Given the description of an element on the screen output the (x, y) to click on. 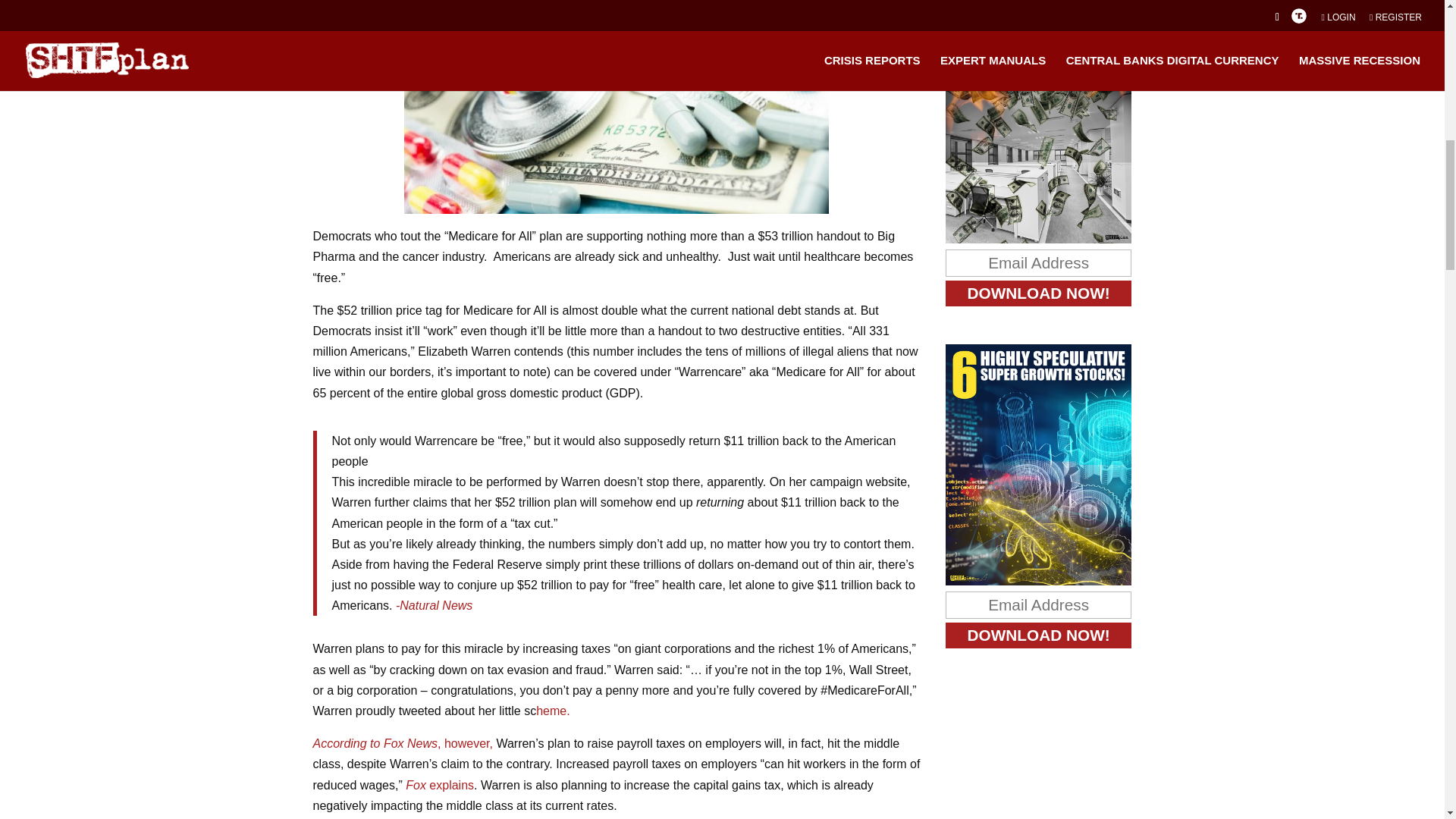
According to Fox News, however, (402, 743)
-Natural News (433, 604)
heme. (552, 710)
Download Now! (1038, 635)
Download Now! (1038, 293)
Fox explains (440, 784)
